Given the description of an element on the screen output the (x, y) to click on. 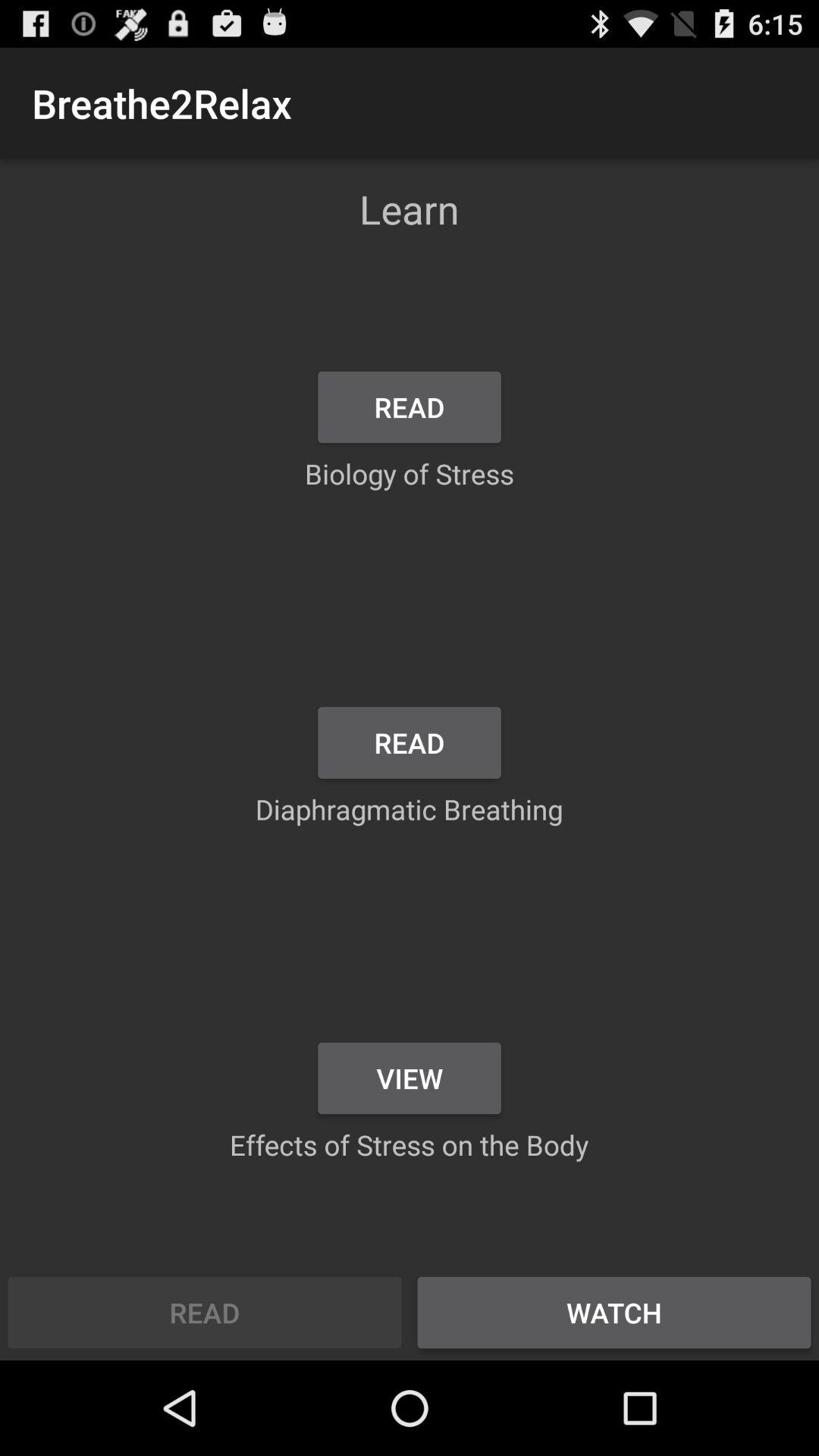
turn off item above effects of stress item (409, 1078)
